Given the description of an element on the screen output the (x, y) to click on. 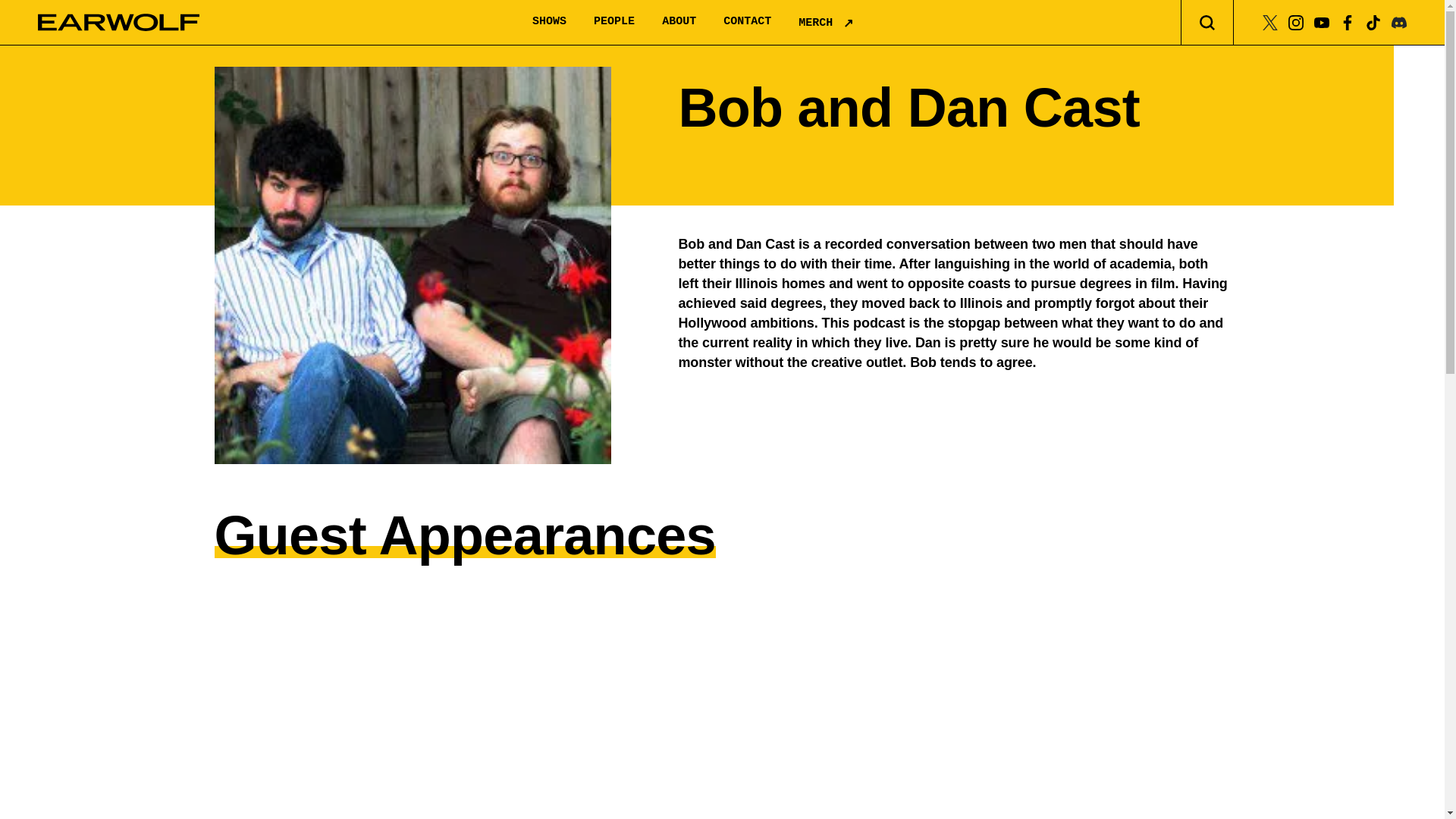
Instagram (1295, 21)
Facebook (1347, 21)
YouTube (1321, 21)
Earwolf (118, 22)
ABOUT (678, 21)
Toggle Search (1206, 22)
CONTACT (747, 21)
Tiktok (1372, 21)
SHOWS (549, 21)
PEOPLE (614, 21)
